Given the description of an element on the screen output the (x, y) to click on. 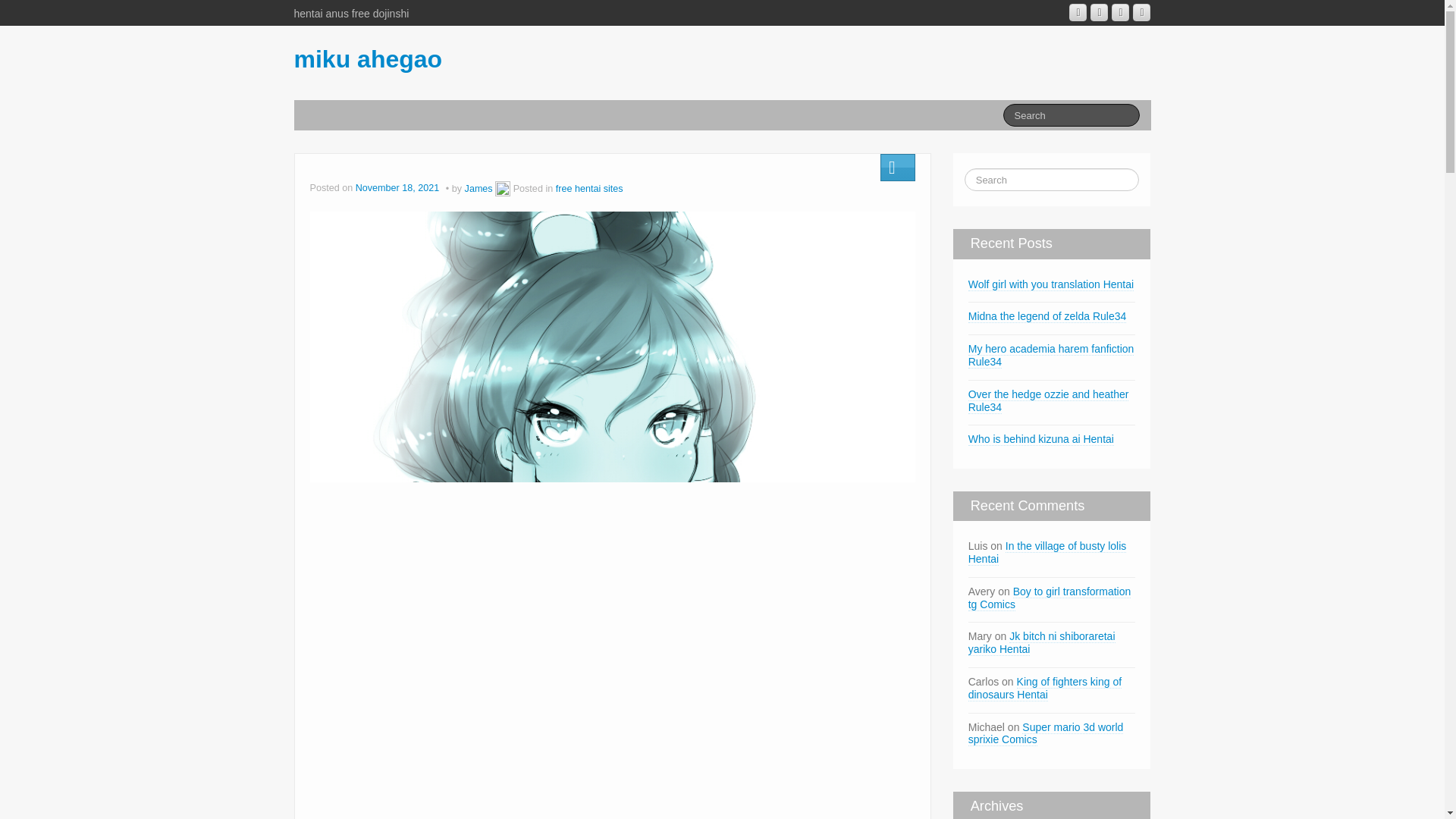
View all posts by James (503, 188)
November 18, 2021 (398, 188)
miku ahegao Googleplus (1077, 12)
Boy to girl transformation tg Comics (1049, 597)
free hentai sites (589, 188)
Who is behind kizuna ai Hentai (1040, 439)
miku ahegao Twitter (1141, 12)
King of fighters king of dinosaurs Hentai (1044, 688)
James (478, 188)
Super mario 3d world sprixie Comics (1046, 733)
